Given the description of an element on the screen output the (x, y) to click on. 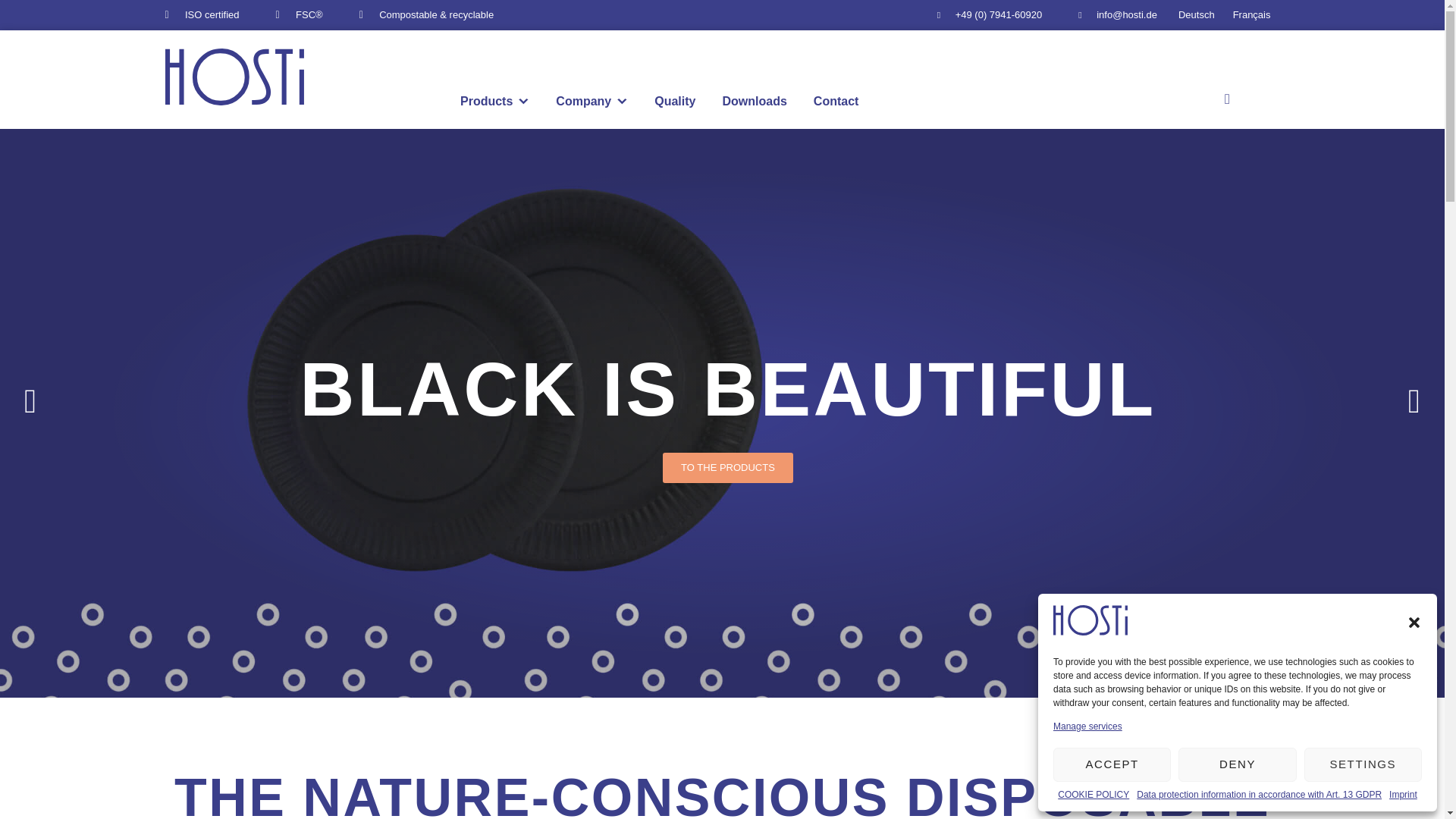
SETTINGS (1363, 764)
Products (494, 101)
Manage services (1087, 726)
Deutsch (1196, 15)
ACCEPT (1111, 764)
Data protection information in accordance with Art. 13 GDPR (1259, 794)
Deutsch (1196, 15)
DENY (1236, 764)
Imprint (1402, 794)
COOKIE POLICY (1093, 794)
